Given the description of an element on the screen output the (x, y) to click on. 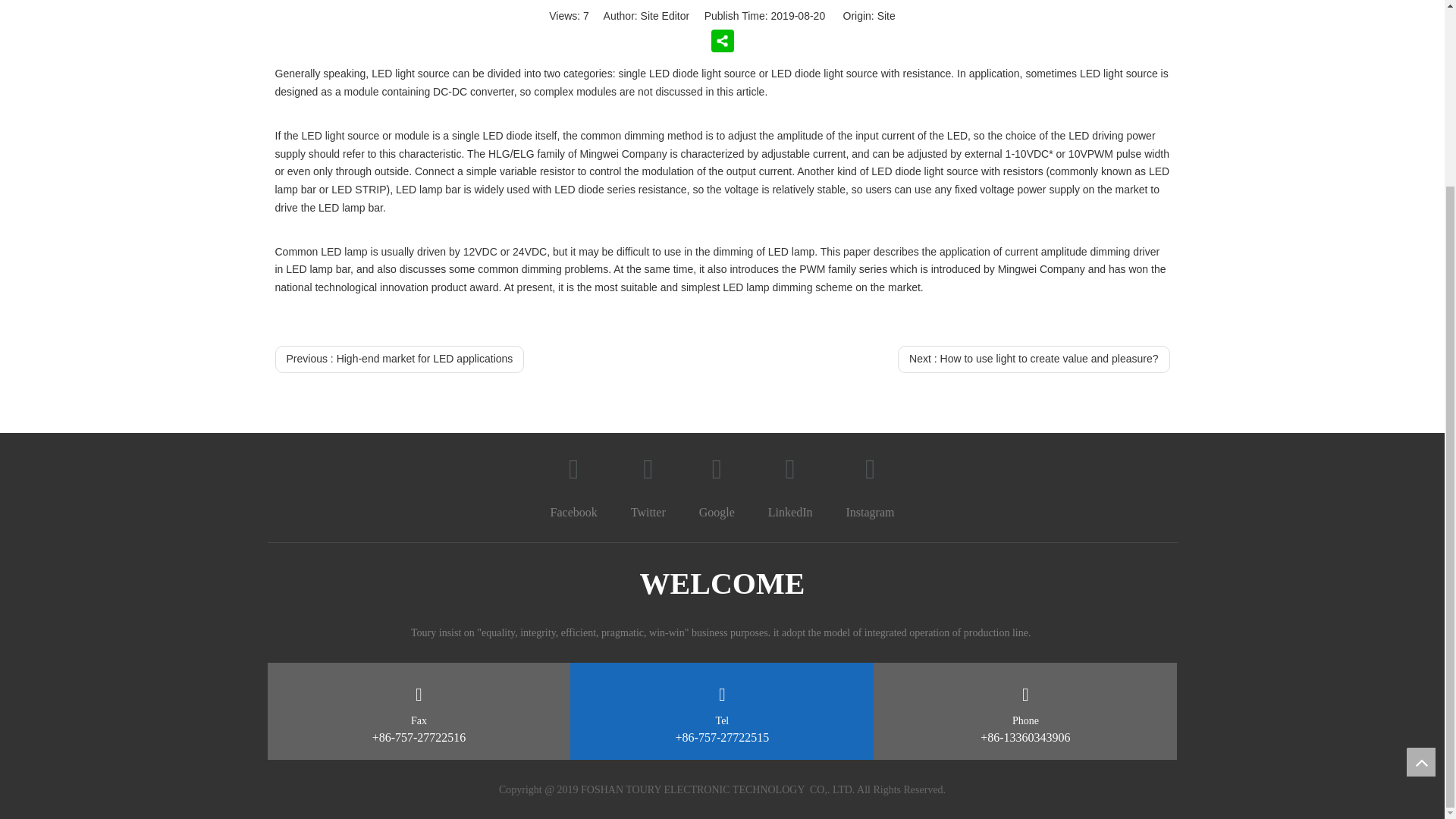
top (1420, 531)
Site (886, 15)
Previous : High-end market for LED applications (399, 359)
Next : How to use light to create value and pleasure? (1033, 359)
